Given the description of an element on the screen output the (x, y) to click on. 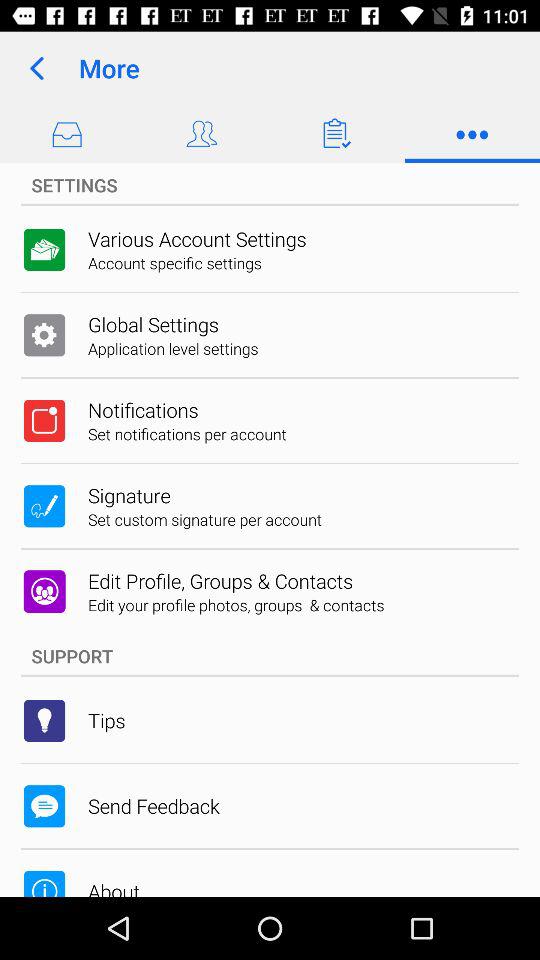
open support icon (270, 656)
